Given the description of an element on the screen output the (x, y) to click on. 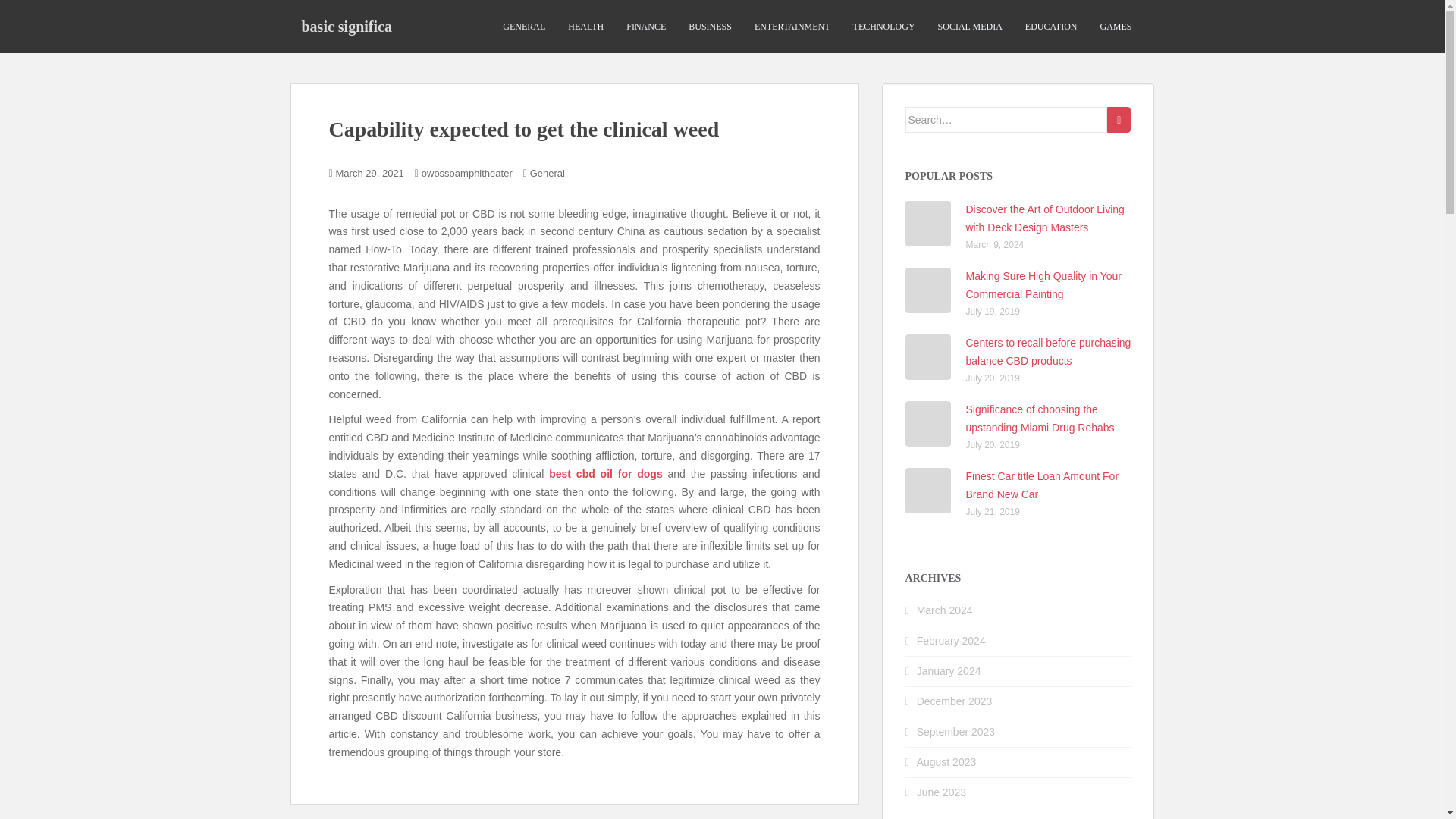
June 2023 (941, 792)
basic significa (346, 26)
Search (1118, 119)
Making Sure High Quality in Your Commercial Painting (1043, 285)
January 2024 (949, 671)
BUSINESS (710, 26)
Finest Car title Loan Amount For Brand New Car (1042, 485)
EDUCATION (1051, 26)
Search for: (1006, 119)
HEALTH (585, 26)
